Given the description of an element on the screen output the (x, y) to click on. 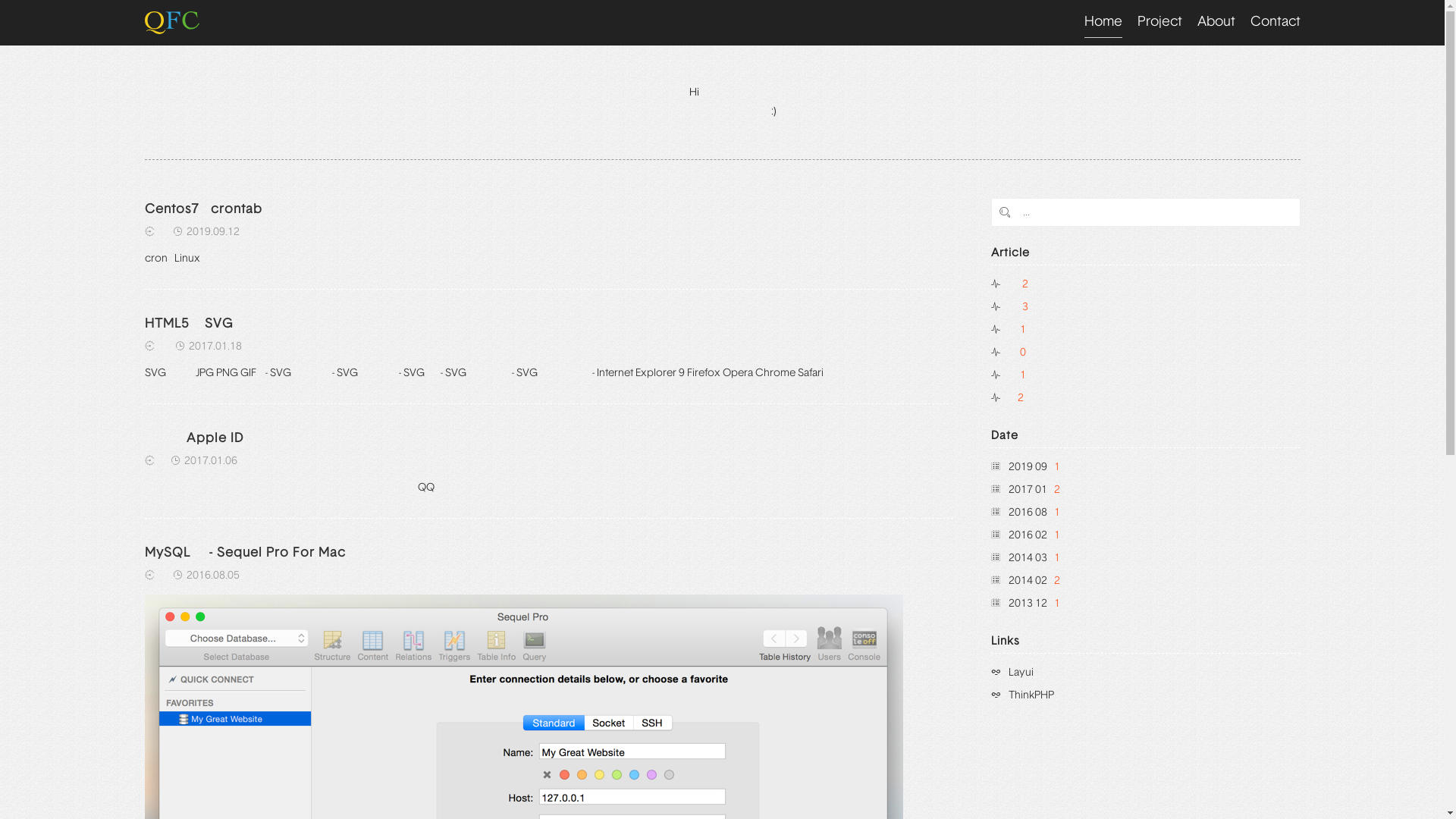
Layui Element type: text (1012, 672)
ThinkPHP Element type: text (1022, 695)
Project Element type: text (1159, 22)
About Element type: text (1215, 22)
Home Element type: text (1103, 22)
Contact Element type: text (1274, 22)
